Given the description of an element on the screen output the (x, y) to click on. 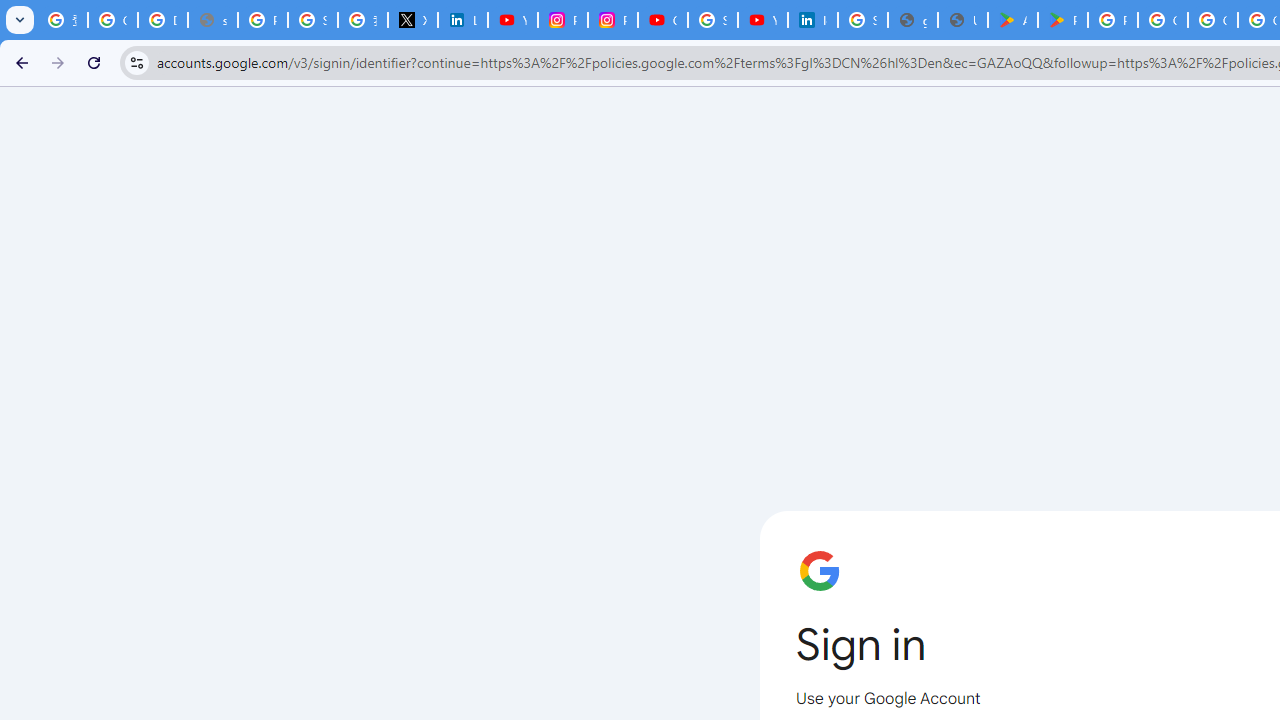
Privacy Help Center - Policies Help (262, 20)
Google Workspace - Specific Terms (1212, 20)
PAW Patrol Rescue World - Apps on Google Play (1062, 20)
Android Apps on Google Play (1013, 20)
LinkedIn Privacy Policy (462, 20)
Sign in - Google Accounts (712, 20)
support.google.com - Network error (213, 20)
